Given the description of an element on the screen output the (x, y) to click on. 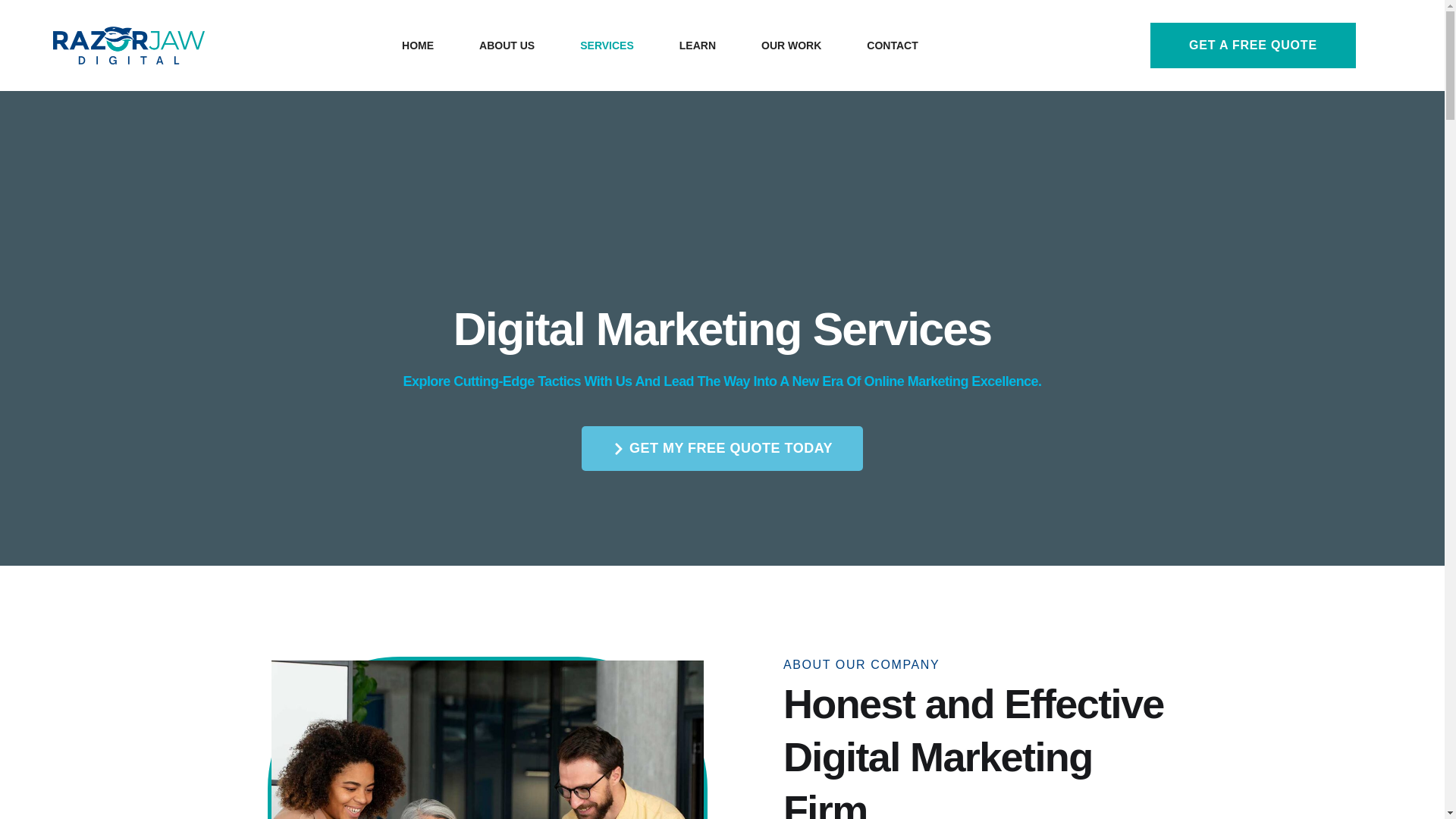
Contact (892, 46)
Our Work (791, 46)
GET A FREE QUOTE (1252, 45)
SERVICES (606, 46)
LEARN (697, 46)
OUR WORK (791, 46)
About Us (507, 46)
CONTACT (892, 46)
Learn (697, 46)
HOME (417, 46)
